Given the description of an element on the screen output the (x, y) to click on. 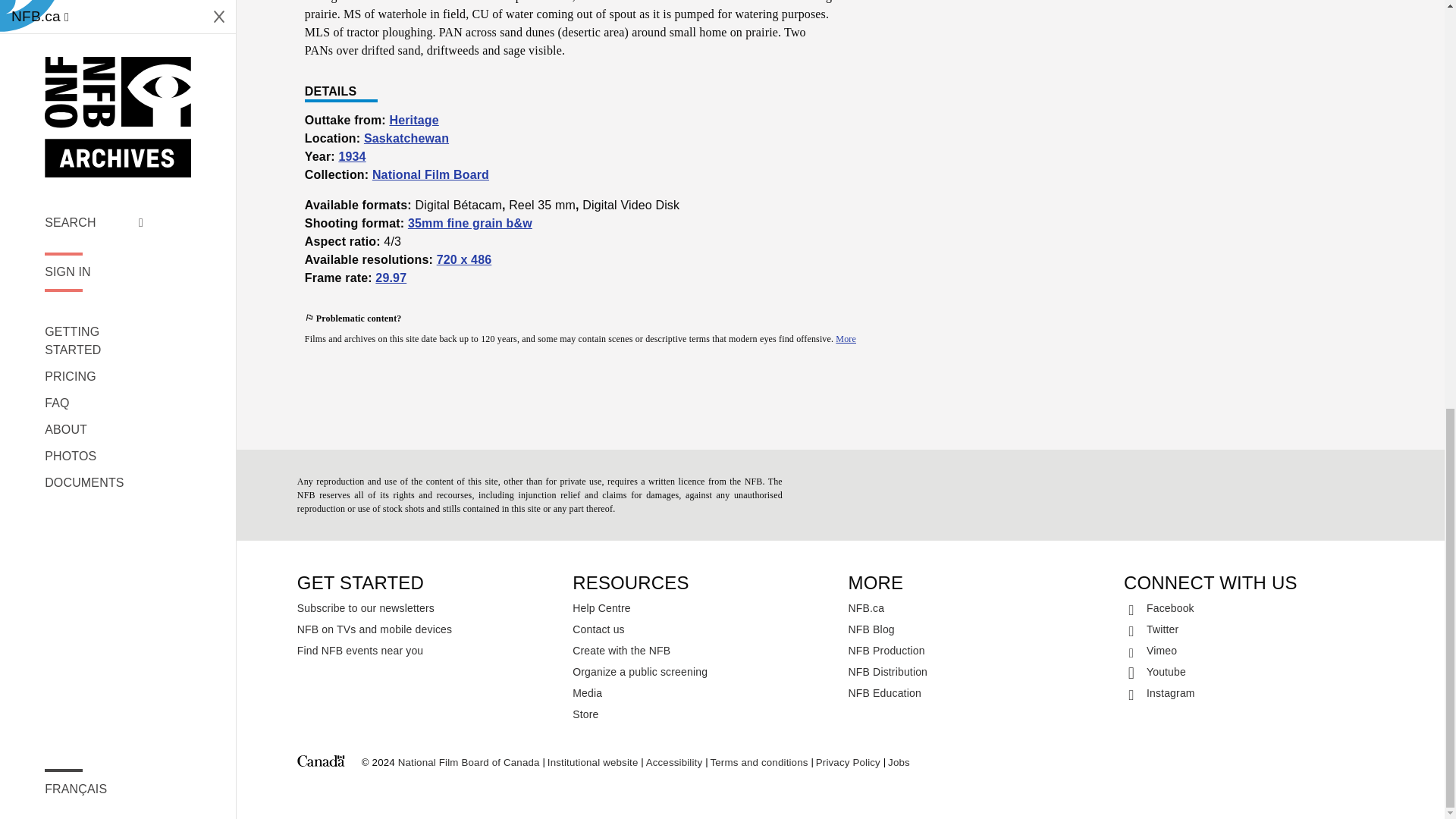
Canada (321, 762)
1934 (351, 155)
Saskatchewan (406, 137)
720 x 486 (464, 259)
Heritage (413, 119)
National Film Board (430, 174)
